Given the description of an element on the screen output the (x, y) to click on. 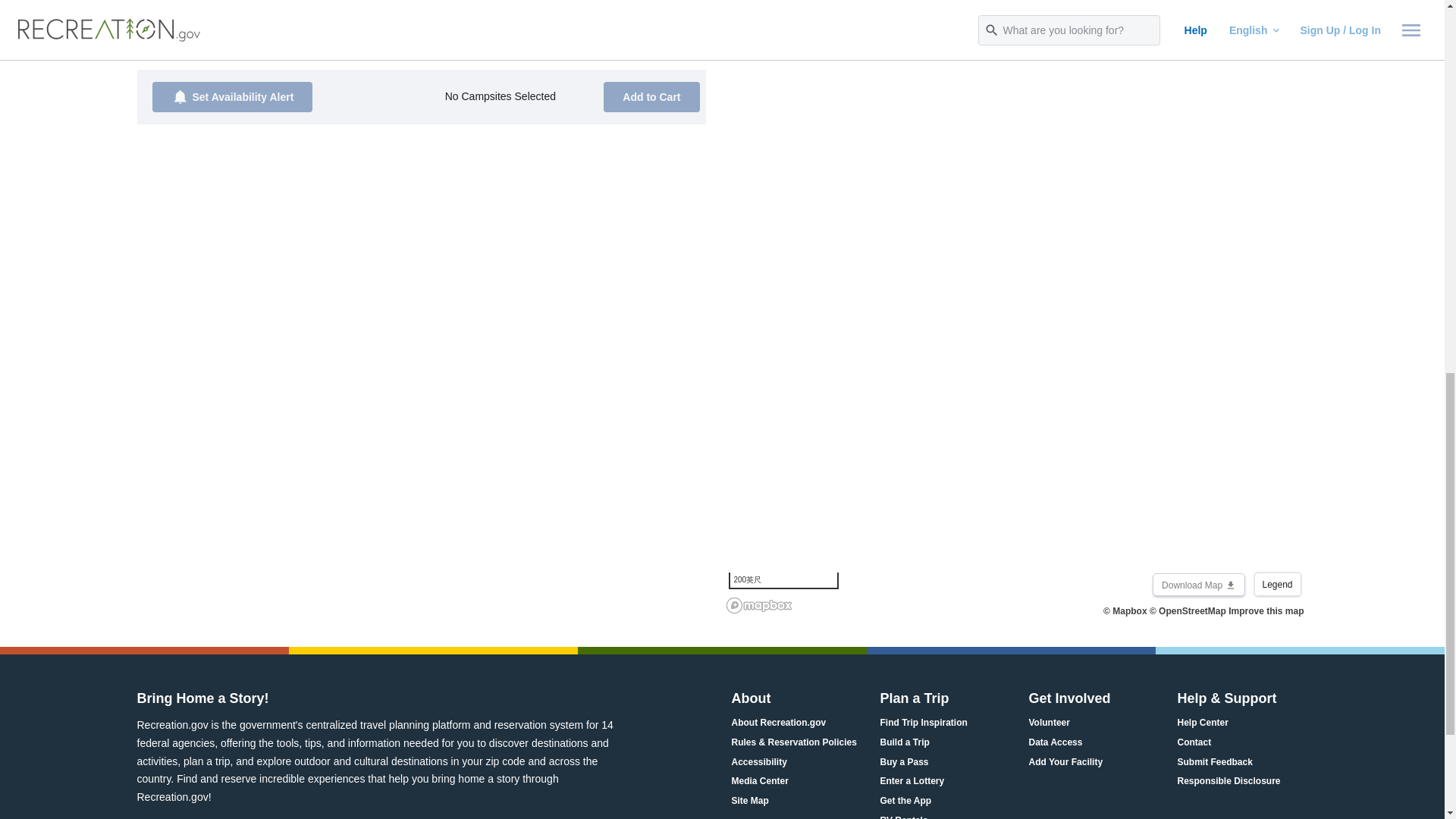
Mapbox (1125, 611)
Improve this map (1265, 611)
OpenStreetMap (1187, 611)
